Given the description of an element on the screen output the (x, y) to click on. 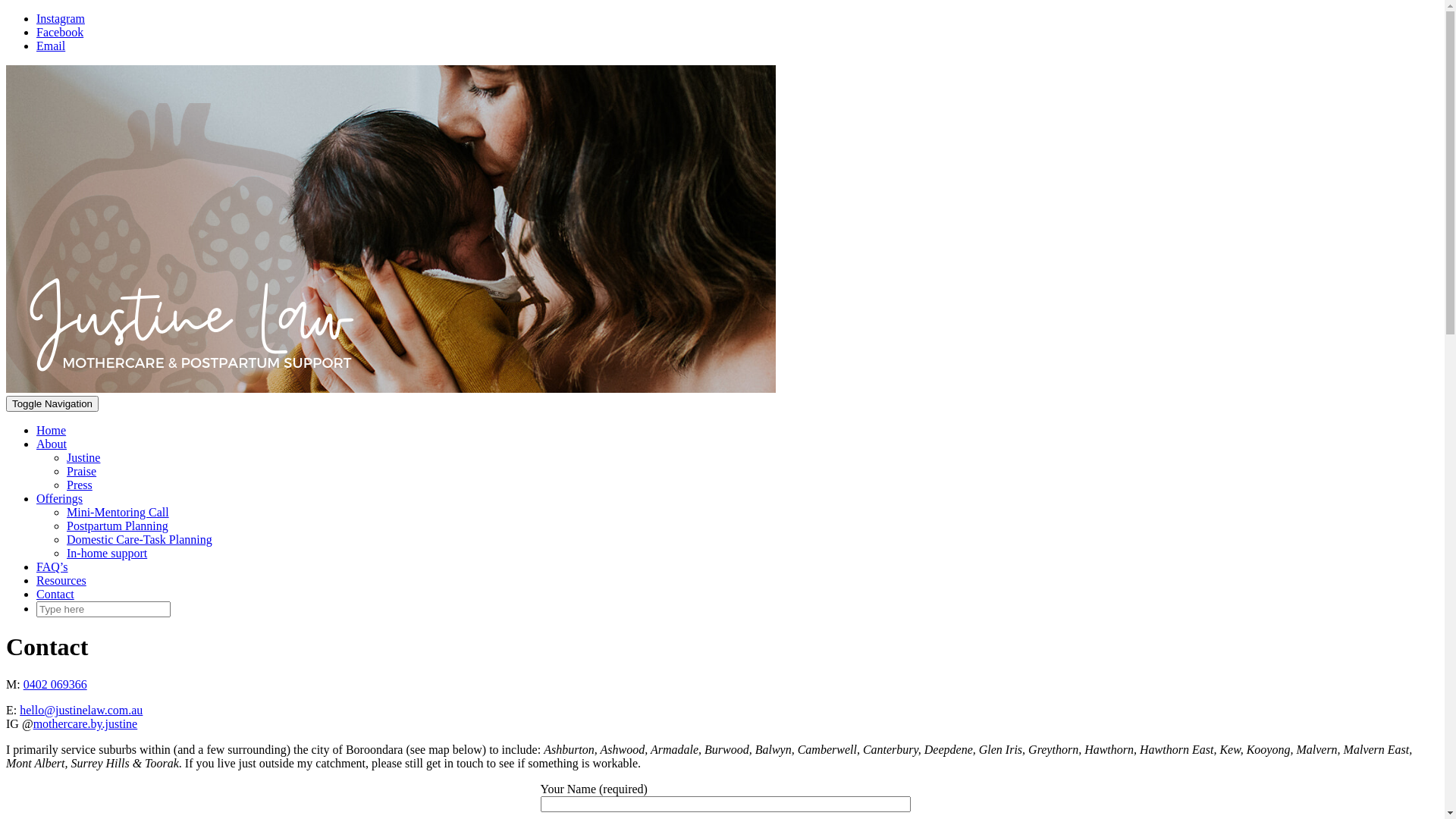
Press Element type: text (79, 484)
Resources Element type: text (61, 580)
Postpartum Planning Element type: text (117, 525)
Email Element type: text (50, 45)
Mini-Mentoring Call Element type: text (117, 511)
About Element type: text (51, 443)
Justine Element type: text (83, 457)
0402 069366 Element type: text (55, 683)
Facebook Element type: text (59, 31)
Toggle Navigation Element type: text (52, 403)
Instagram Element type: text (60, 18)
In-home support Element type: text (106, 552)
Praise Element type: text (81, 470)
Domestic Care-Task Planning Element type: text (139, 539)
Home Element type: text (50, 429)
Offerings Element type: text (59, 498)
hello@justinelaw.com.au Element type: text (80, 709)
mothercare.by.justine Element type: text (85, 723)
Contact Element type: text (55, 593)
Skip to content Element type: text (5, 11)
